Given the description of an element on the screen output the (x, y) to click on. 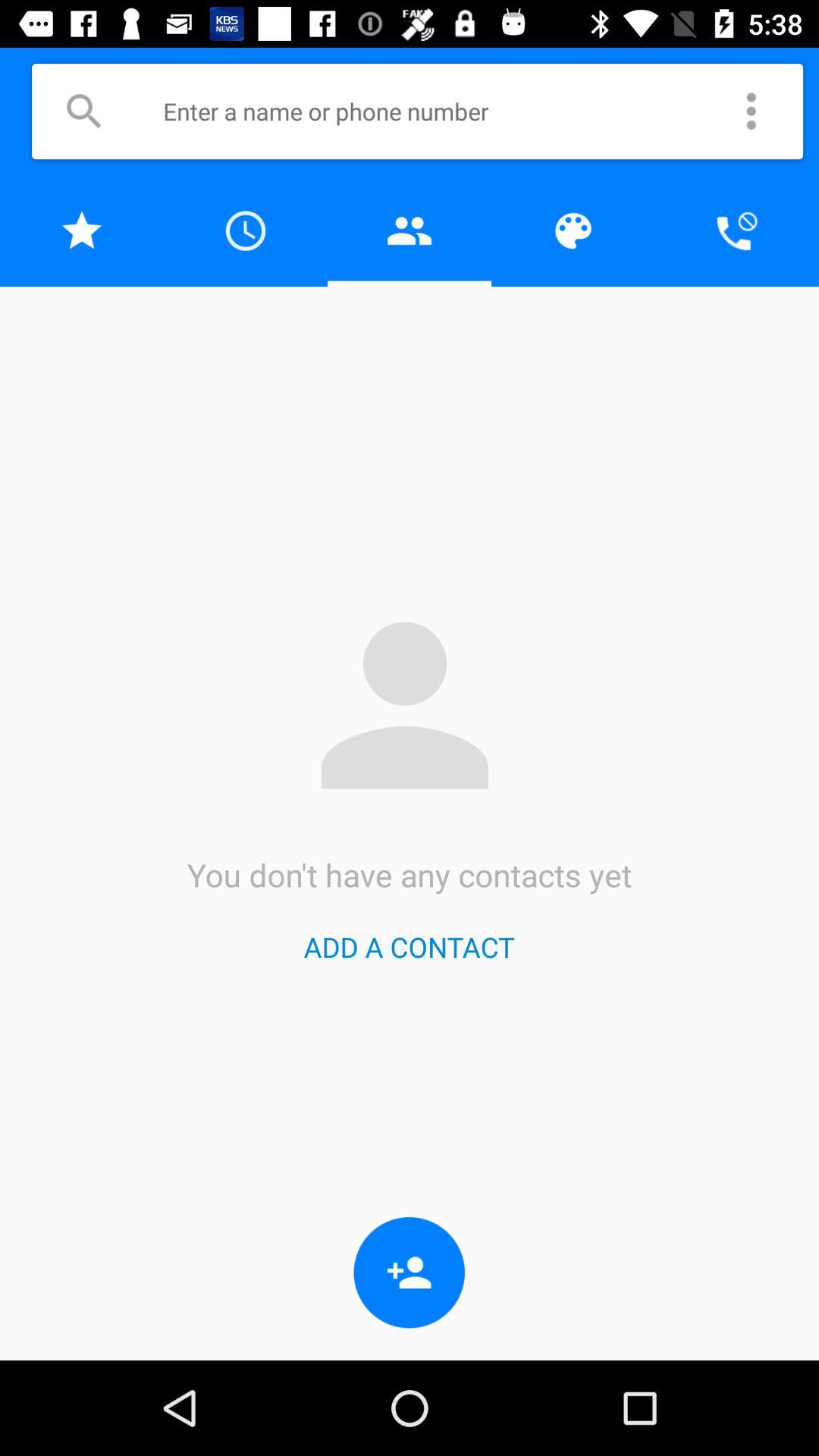
telephone this contact (737, 230)
